Given the description of an element on the screen output the (x, y) to click on. 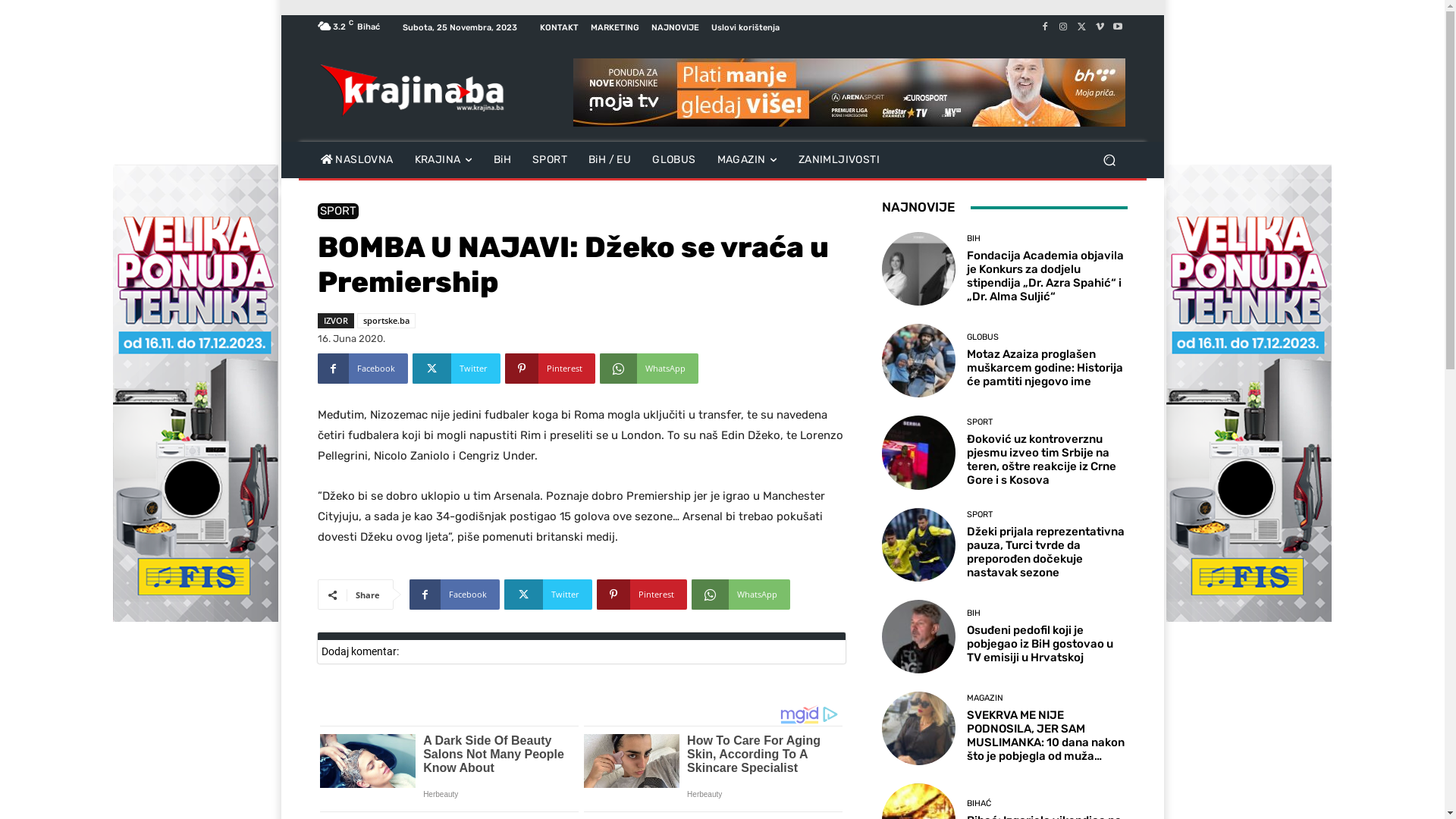
SPORT Element type: text (979, 514)
BiH Element type: text (502, 159)
WhatsApp Element type: text (648, 368)
Twitter Element type: text (547, 594)
MAGAZIN Element type: text (984, 697)
SPORT Element type: text (336, 211)
NASLOVNA Element type: text (356, 159)
Facebook Element type: hover (1044, 27)
Facebook Element type: text (454, 594)
BIH Element type: text (973, 238)
WhatsApp Element type: text (740, 594)
BiH / EU Element type: text (609, 159)
MARKETING Element type: text (613, 26)
SPORT Element type: text (549, 159)
BIH Element type: text (973, 612)
GLOBUS Element type: text (673, 159)
KONTAKT Element type: text (558, 26)
GLOBUS Element type: text (982, 336)
Pinterest Element type: text (641, 594)
MAGAZIN Element type: text (746, 159)
SPORT Element type: text (979, 421)
Youtube Element type: hover (1117, 27)
ZANIMLJIVOSTI Element type: text (838, 159)
Twitter Element type: text (456, 368)
NAJNOVIJE Element type: text (674, 26)
Instagram Element type: hover (1063, 27)
Vimeo Element type: hover (1099, 27)
KRAJINA Element type: text (443, 159)
Twitter Element type: hover (1081, 27)
  Element type: text (849, 92)
sportske.ba Element type: text (385, 320)
Facebook Element type: text (361, 368)
Pinterest Element type: text (550, 368)
